Given the description of an element on the screen output the (x, y) to click on. 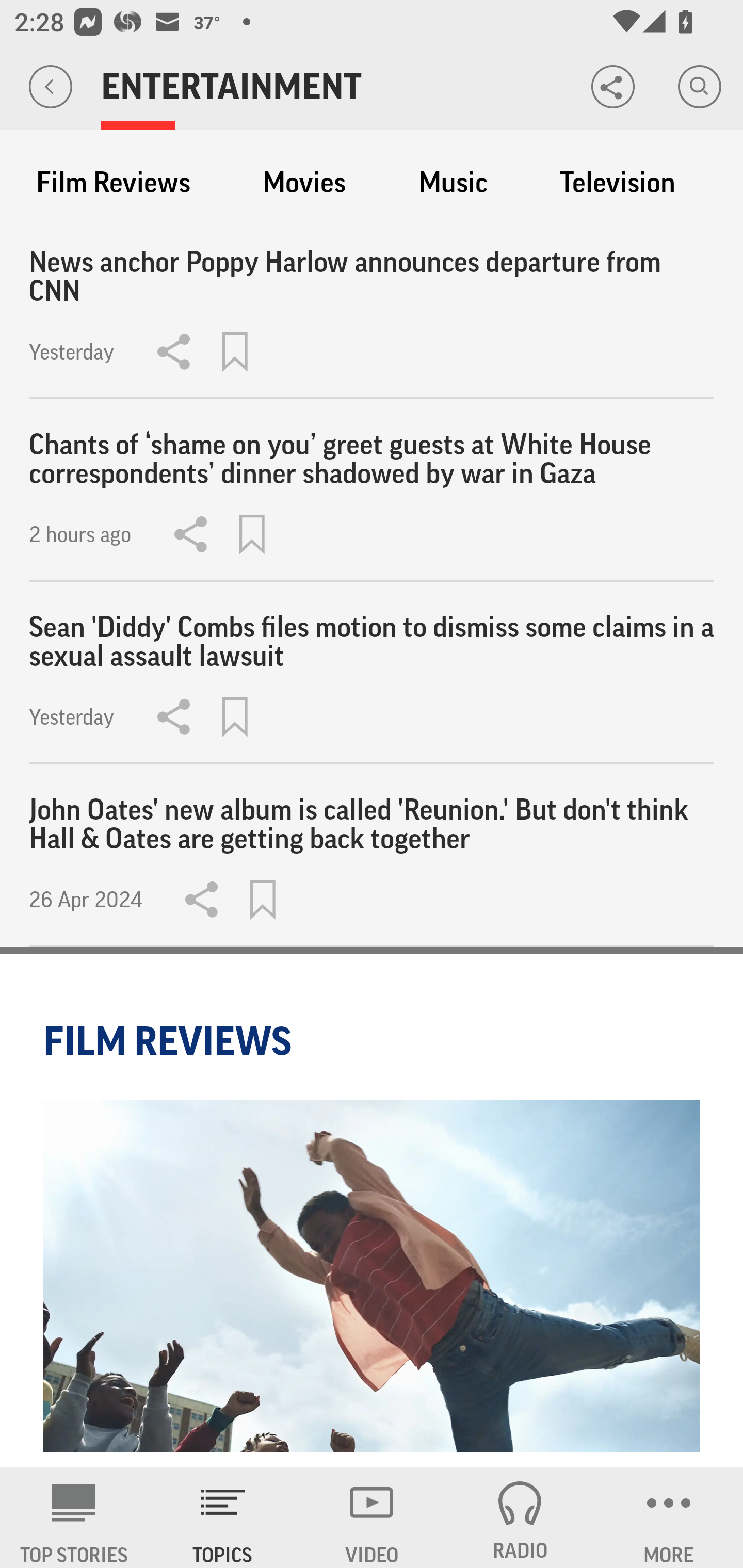
Film Reviews (112, 182)
Movies (304, 182)
Music (452, 182)
Television (617, 182)
FILM REVIEWS (170, 1040)
AP News TOP STORIES (74, 1517)
TOPICS (222, 1517)
VIDEO (371, 1517)
RADIO (519, 1517)
MORE (668, 1517)
